Given the description of an element on the screen output the (x, y) to click on. 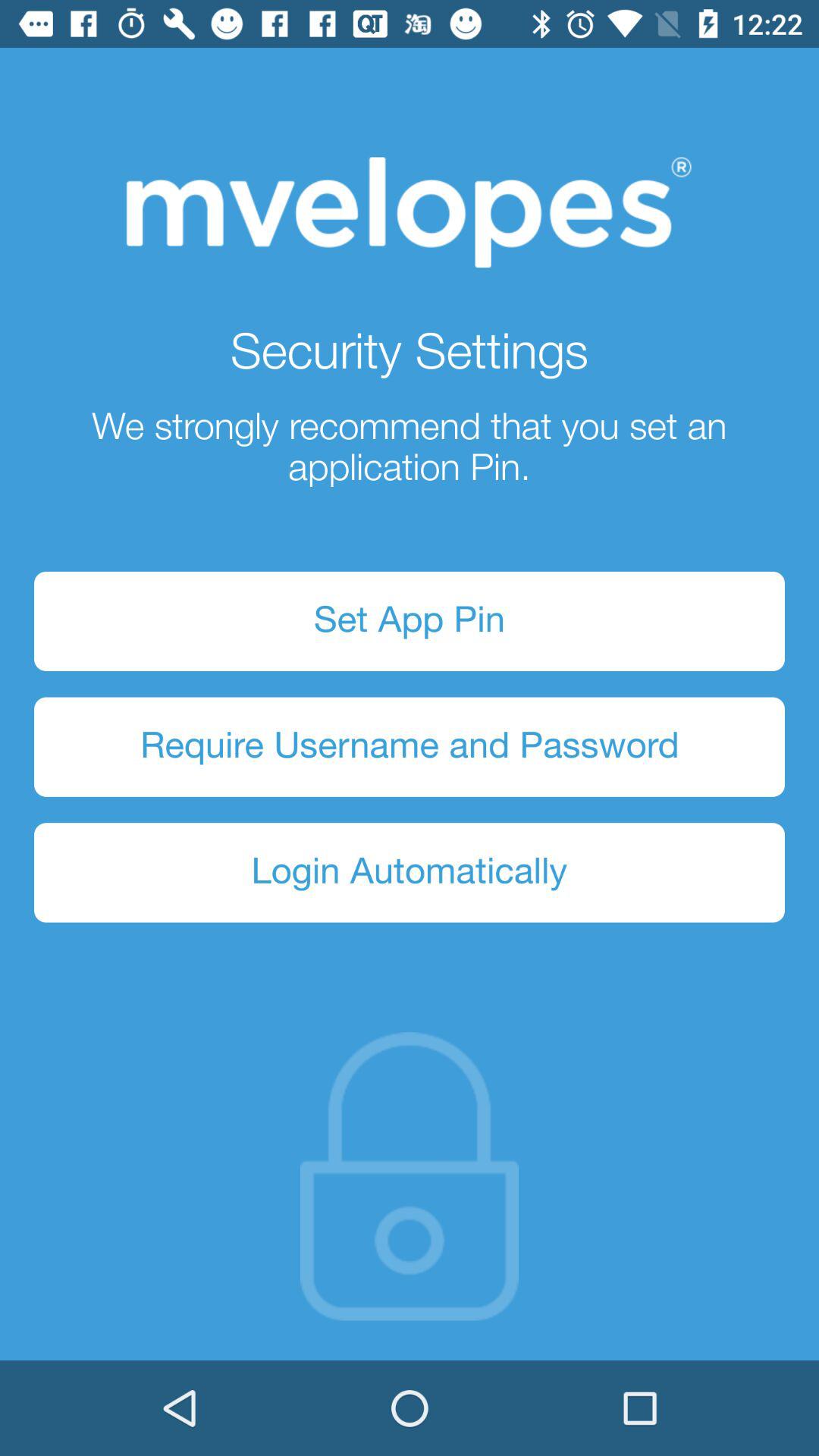
choose the icon above login automatically icon (409, 746)
